Given the description of an element on the screen output the (x, y) to click on. 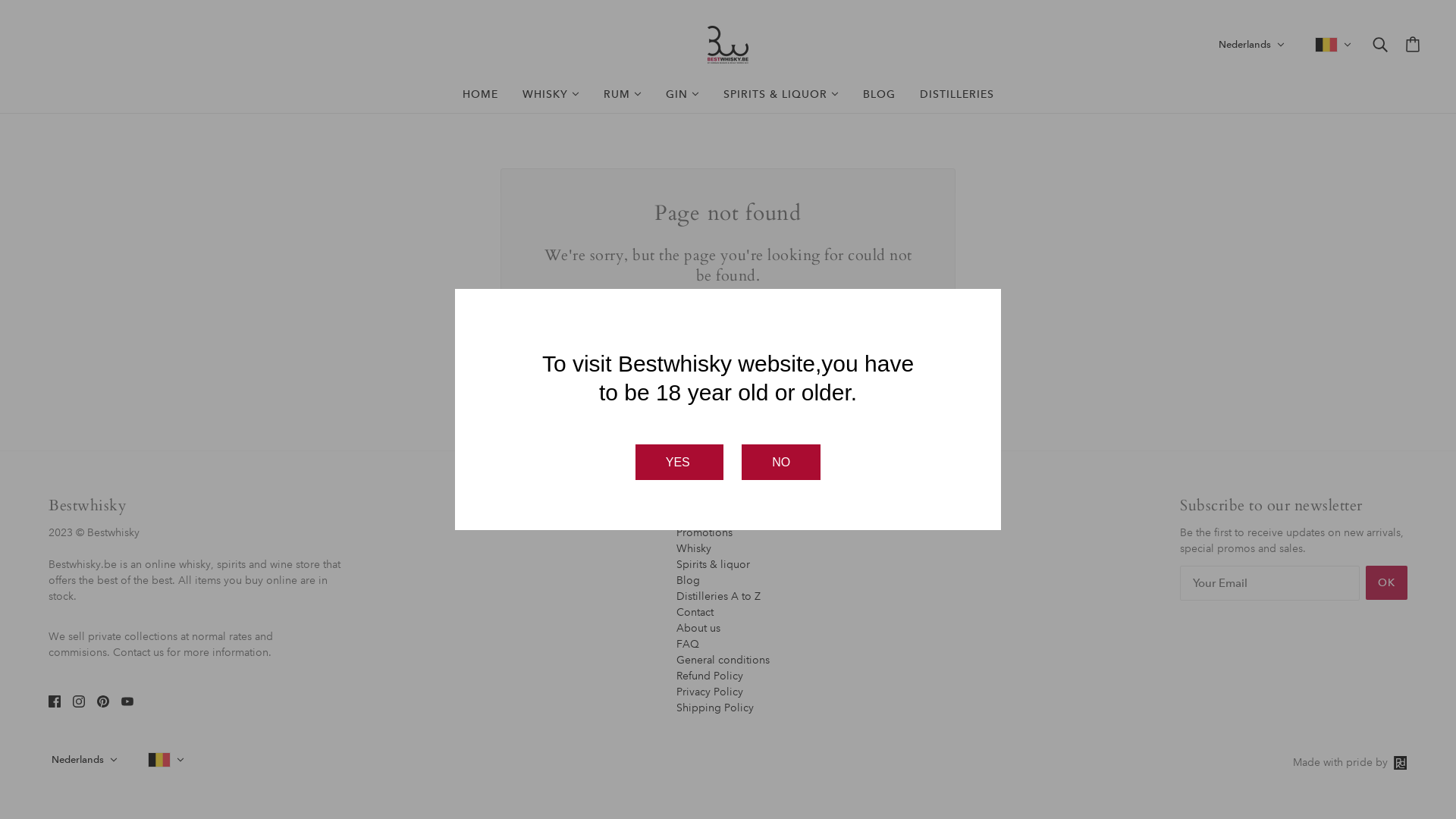
OK Element type: text (1386, 582)
General conditions Element type: text (722, 658)
DISTILLERIES Element type: text (955, 93)
Privacy Policy Element type: text (709, 690)
products Element type: text (855, 312)
Spirits & liquor Element type: text (712, 563)
Promotions Element type: text (704, 531)
Distilleries A to Z Element type: text (718, 595)
Whisky Element type: text (693, 548)
SPIRITS & LIQUOR
  Element type: text (780, 94)
FAQ Element type: text (687, 643)
WHISKY
  Element type: text (549, 94)
RUM
  Element type: text (622, 94)
YES Element type: text (679, 462)
Shipping Policy Element type: text (714, 707)
Blog Element type: text (687, 579)
Bestwhisky.be Element type: hover (727, 44)
NO Element type: text (780, 462)
Home page Element type: text (686, 312)
Nederlands Element type: text (84, 759)
Contact Element type: text (694, 611)
GIN
  Element type: text (682, 94)
Refund Policy Element type: text (709, 675)
About us Element type: text (698, 626)
Nederlands Element type: text (1251, 43)
HOME Element type: text (480, 93)
BLOG Element type: text (878, 93)
